Given the description of an element on the screen output the (x, y) to click on. 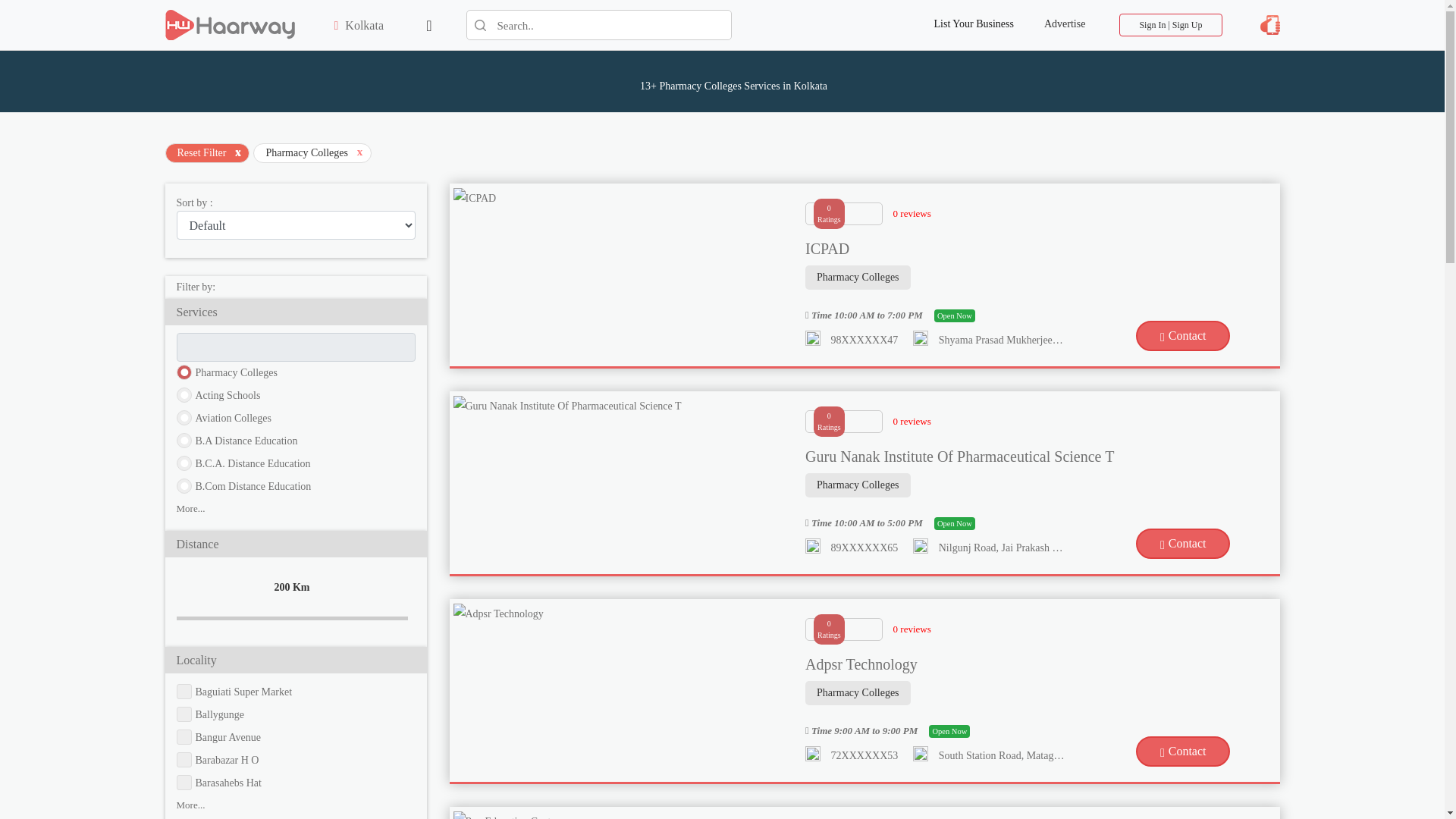
Advertise (1064, 13)
Remove (238, 154)
Remove (360, 154)
